Given the description of an element on the screen output the (x, y) to click on. 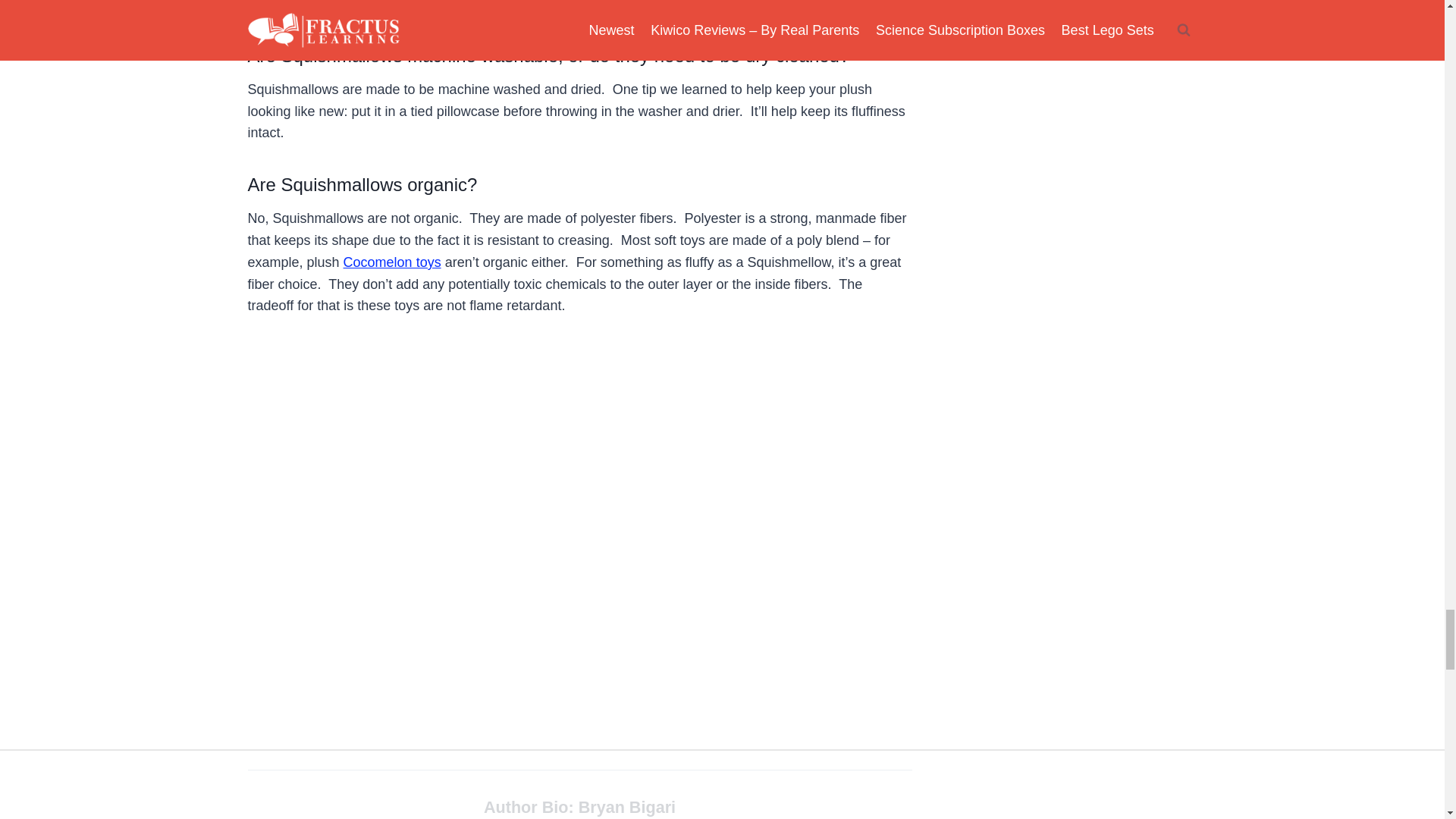
Author Bio: Bryan Bigari (579, 806)
Cocomelon toys (392, 262)
